Given the description of an element on the screen output the (x, y) to click on. 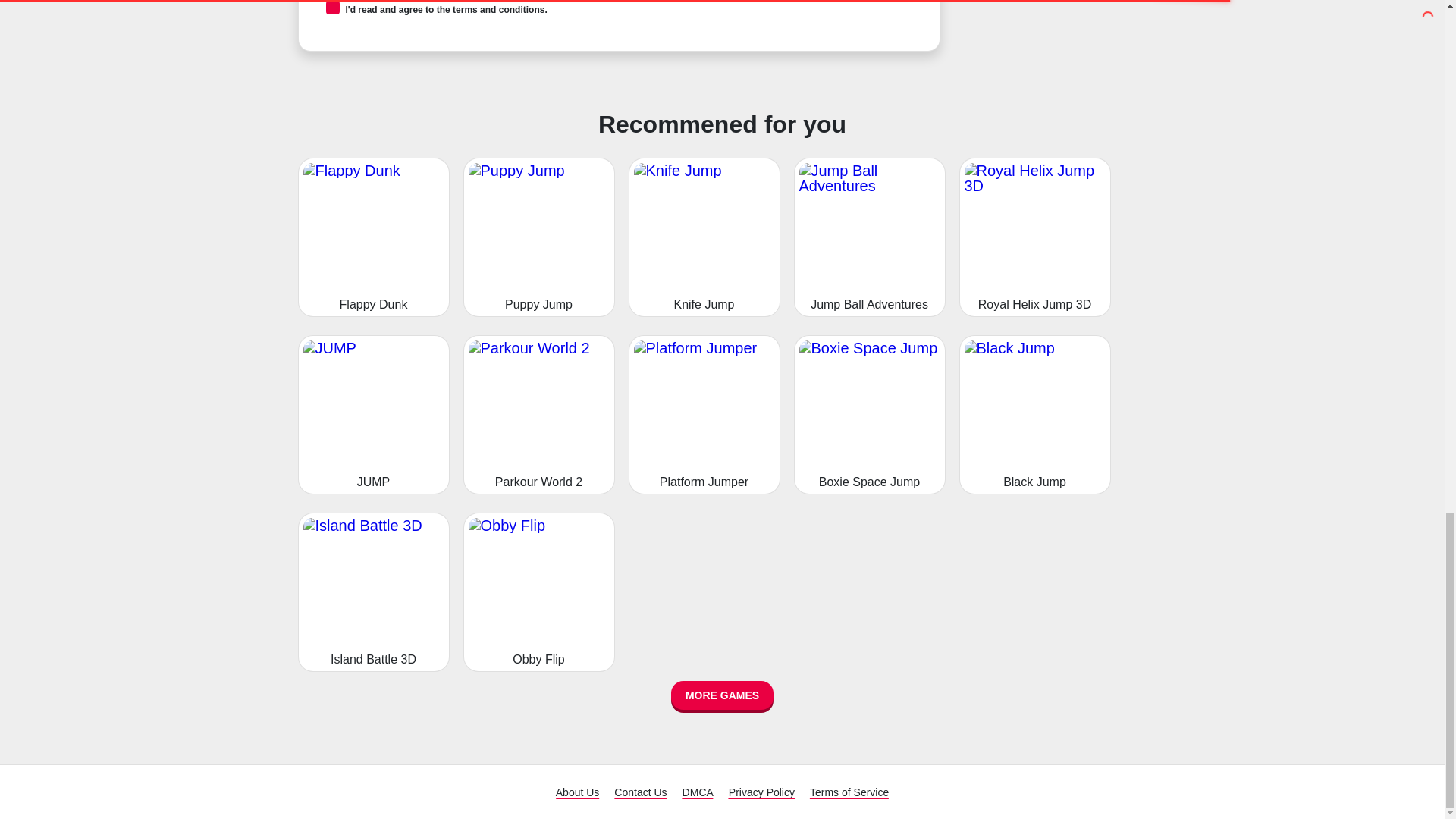
Flappy Dunk (372, 237)
Royal Helix Jump 3D (1033, 237)
Black Jump (1033, 414)
JUMP (372, 414)
Puppy Jump (538, 237)
Parkour World 2 (538, 414)
Boxie Space Jump (868, 414)
Platform Jumper (702, 414)
Royal Helix Jump 3D (1033, 237)
Flappy Dunk (372, 237)
